Given the description of an element on the screen output the (x, y) to click on. 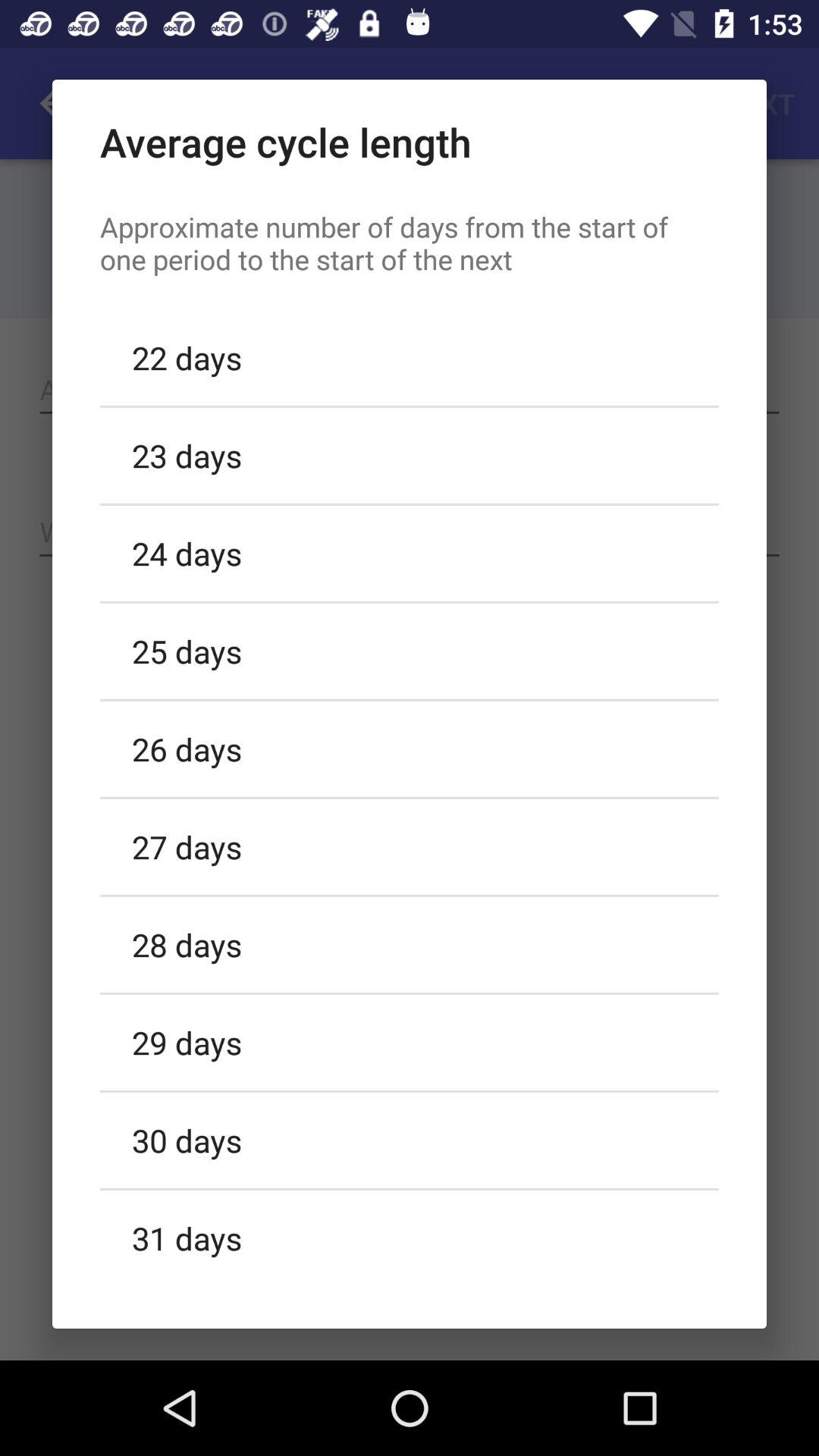
select the item above the 27 days icon (409, 748)
